Given the description of an element on the screen output the (x, y) to click on. 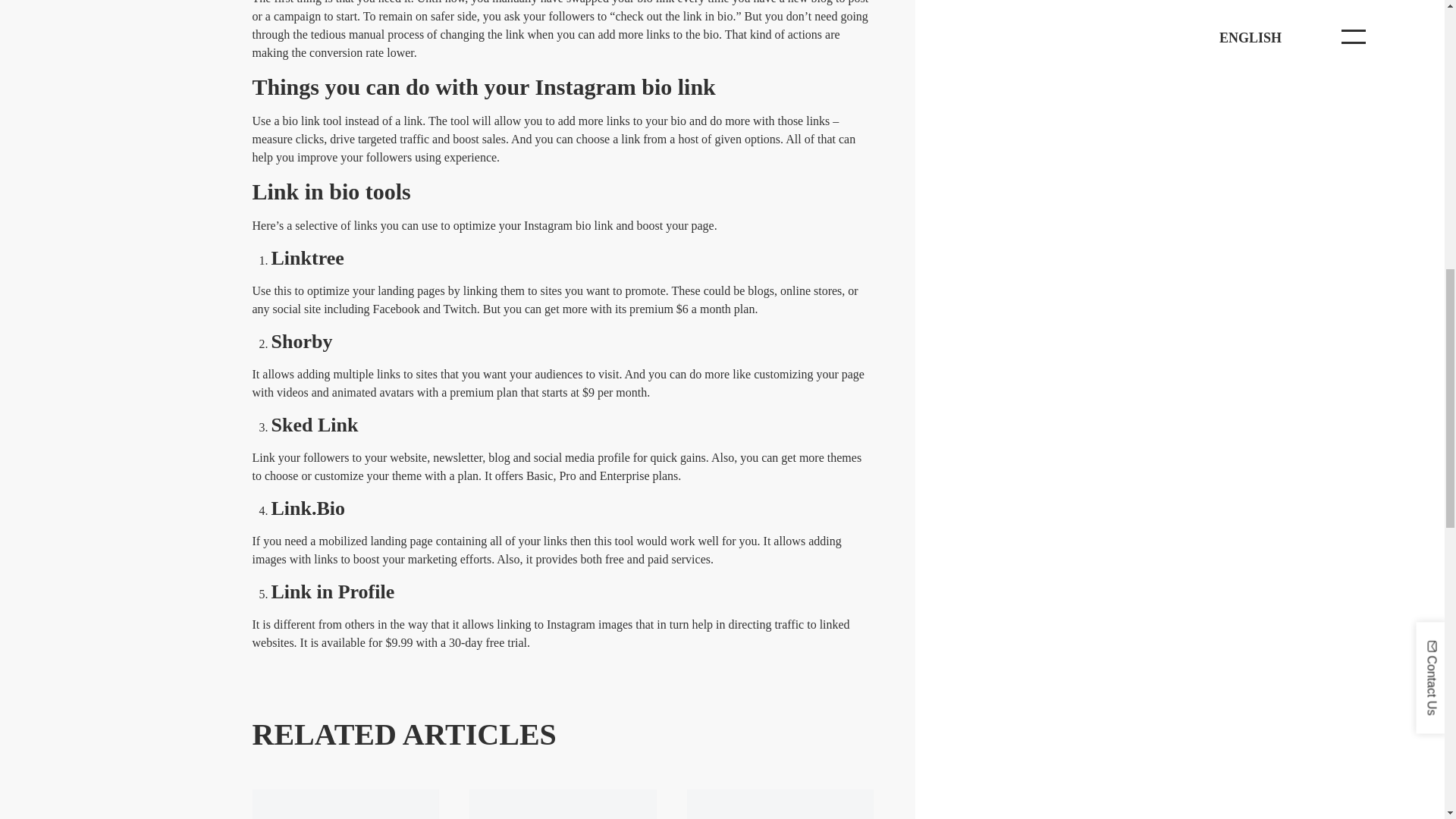
WHY DO BUSINESSES NEED MULTI ACCOUNTS FEATURE IN INSTAGRAM? (345, 804)
